Given the description of an element on the screen output the (x, y) to click on. 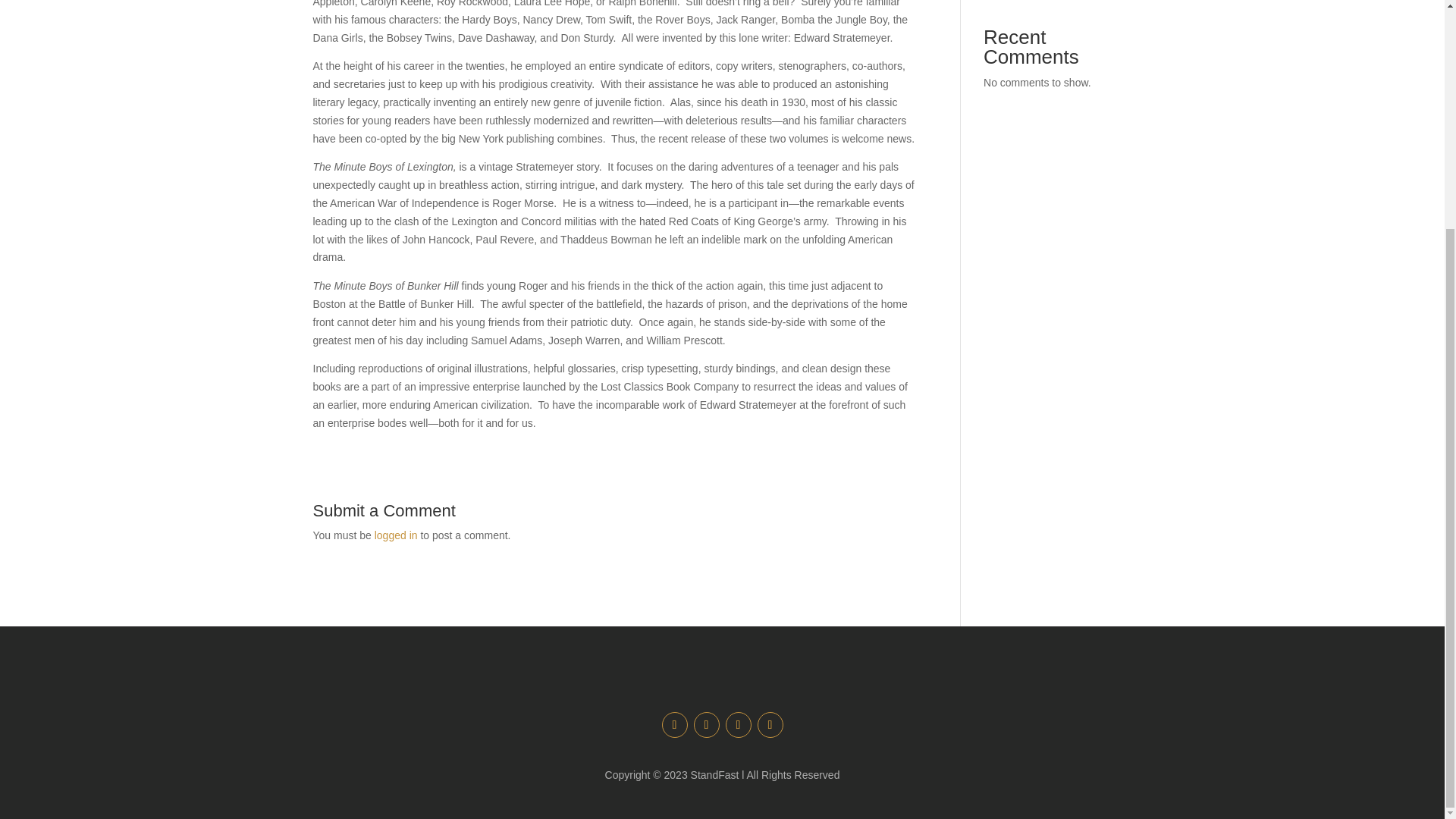
Hero Tales (1008, 0)
Follow on Youtube (738, 724)
footer-logo (721, 680)
Follow on Instagram (770, 724)
Follow on X (706, 724)
logged in (395, 535)
Follow on Facebook (674, 724)
